Given the description of an element on the screen output the (x, y) to click on. 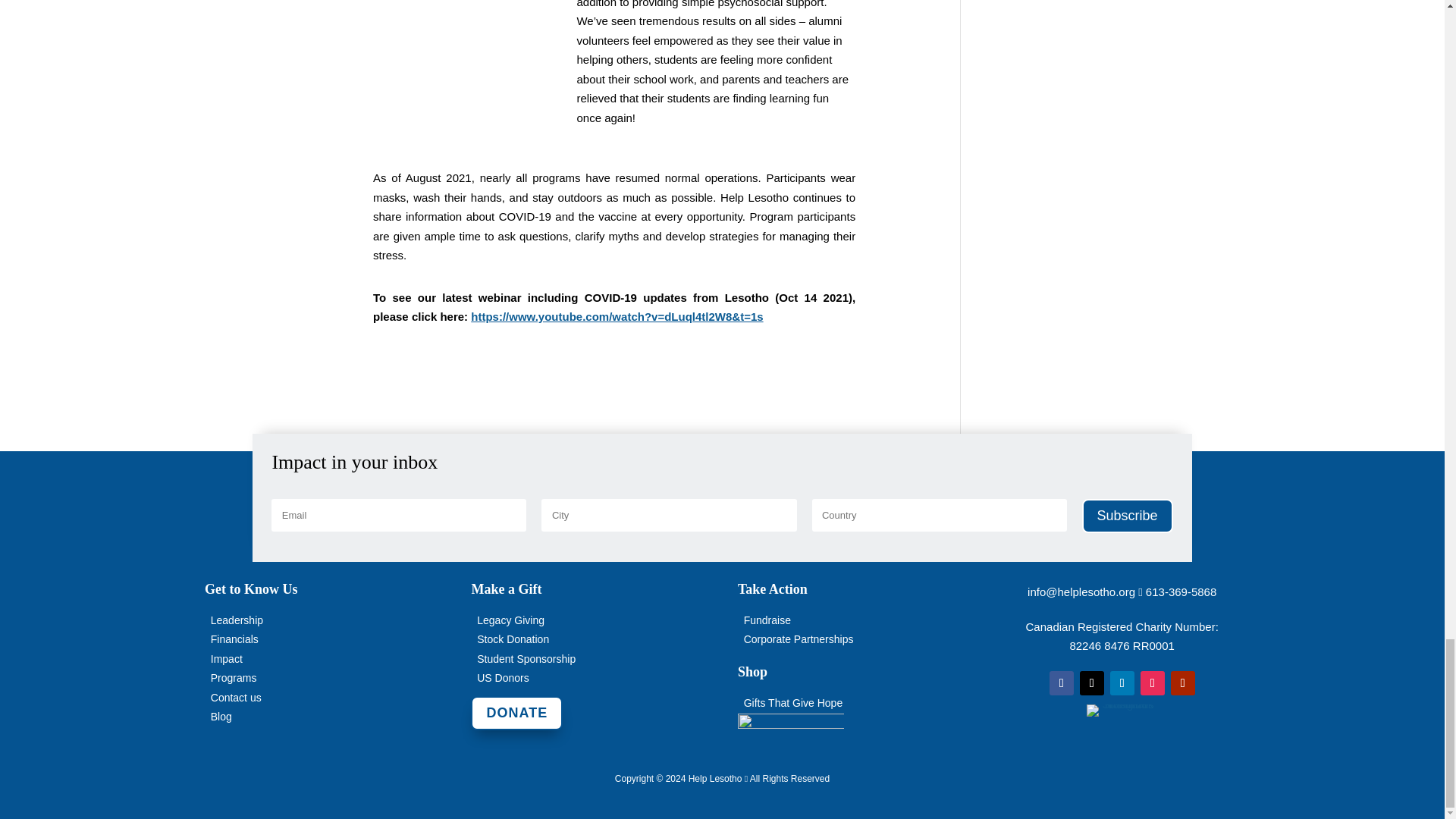
Follow on Instagram (1152, 682)
Contact us (236, 697)
Financials (235, 639)
Fundraise (767, 620)
Follow on X (1091, 682)
Stock Donation (512, 639)
Corporate Partnerships (798, 639)
Programs (234, 677)
Student Sponsorship (526, 658)
Leadership (237, 620)
